Given the description of an element on the screen output the (x, y) to click on. 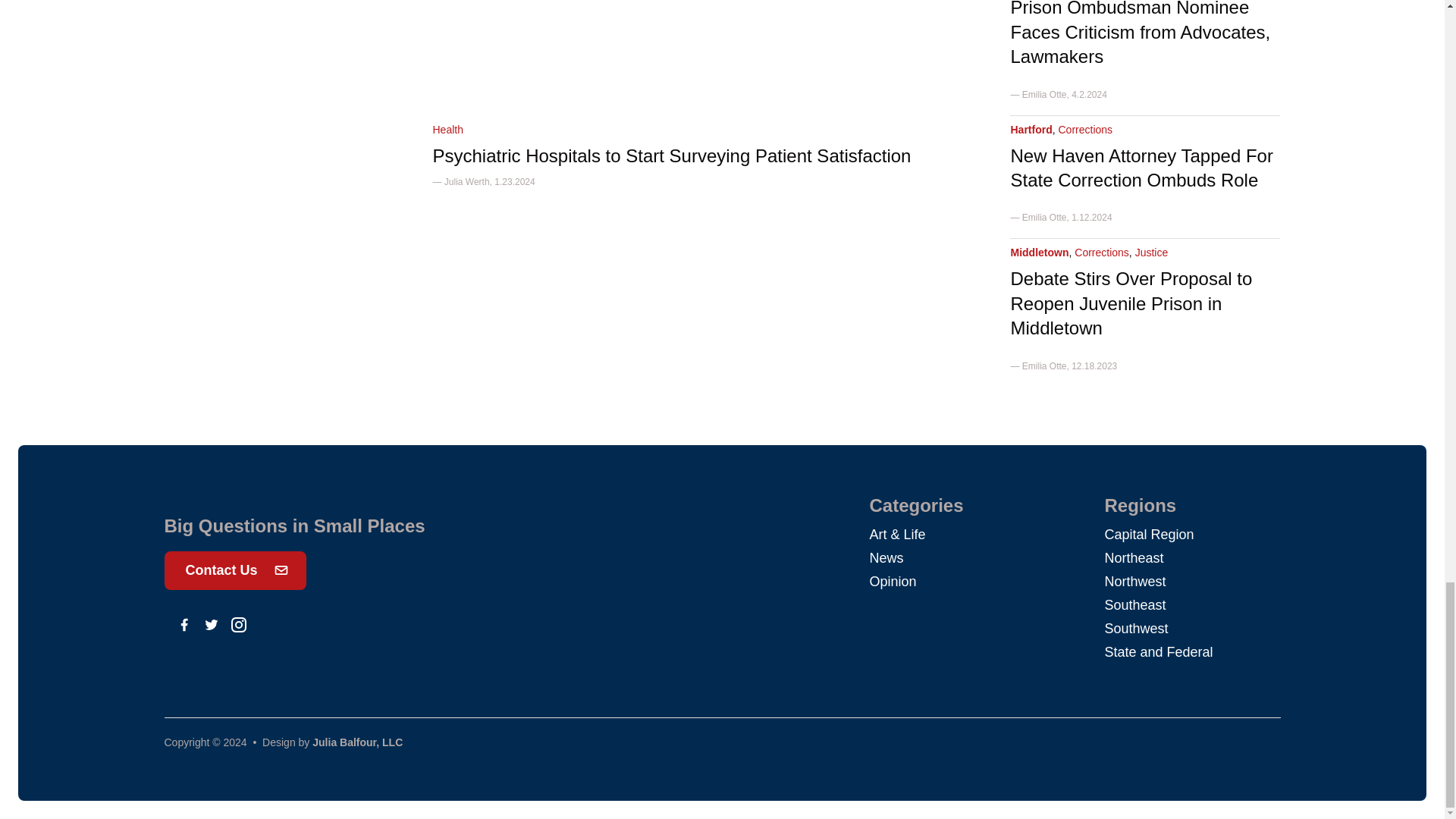
twitter (210, 624)
facebook (183, 624)
instagram (238, 624)
